Given the description of an element on the screen output the (x, y) to click on. 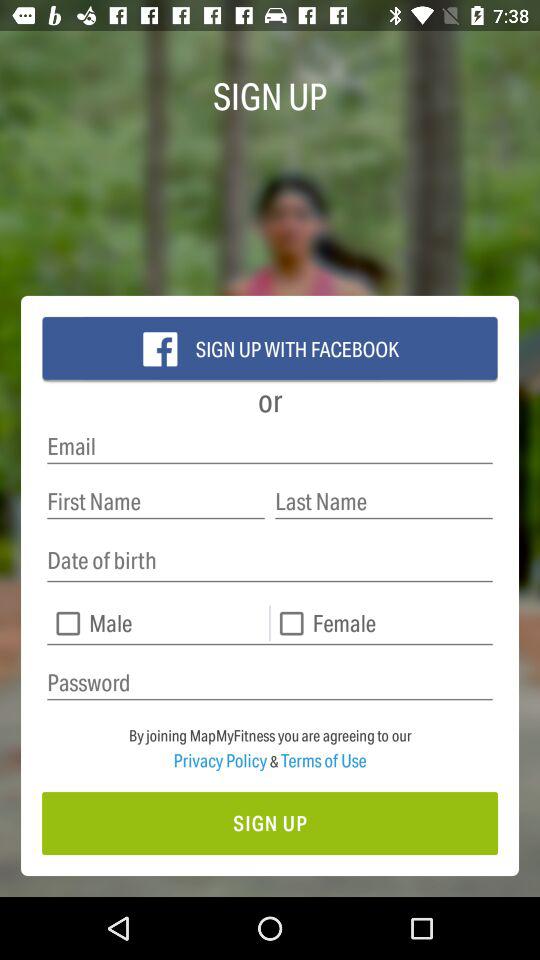
enter password (270, 682)
